Given the description of an element on the screen output the (x, y) to click on. 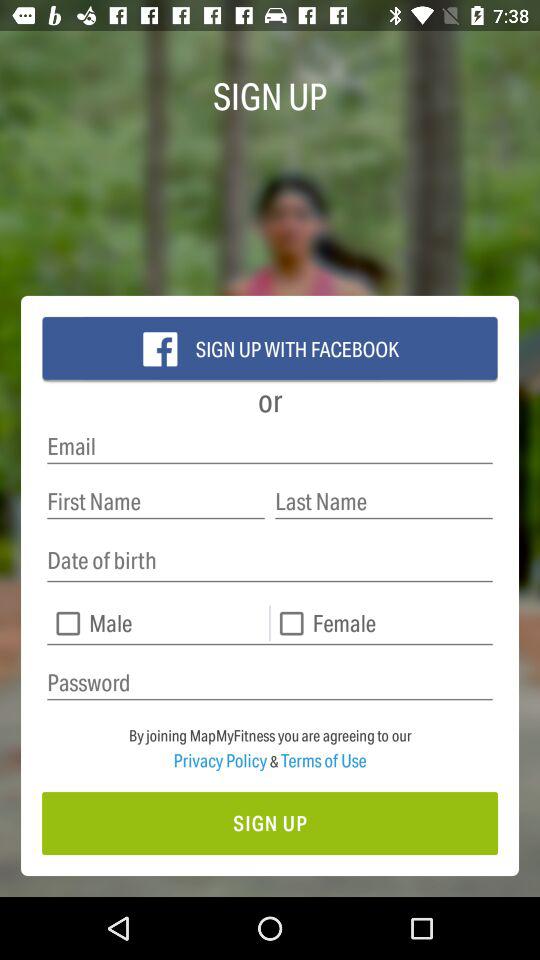
enter password (270, 682)
